Given the description of an element on the screen output the (x, y) to click on. 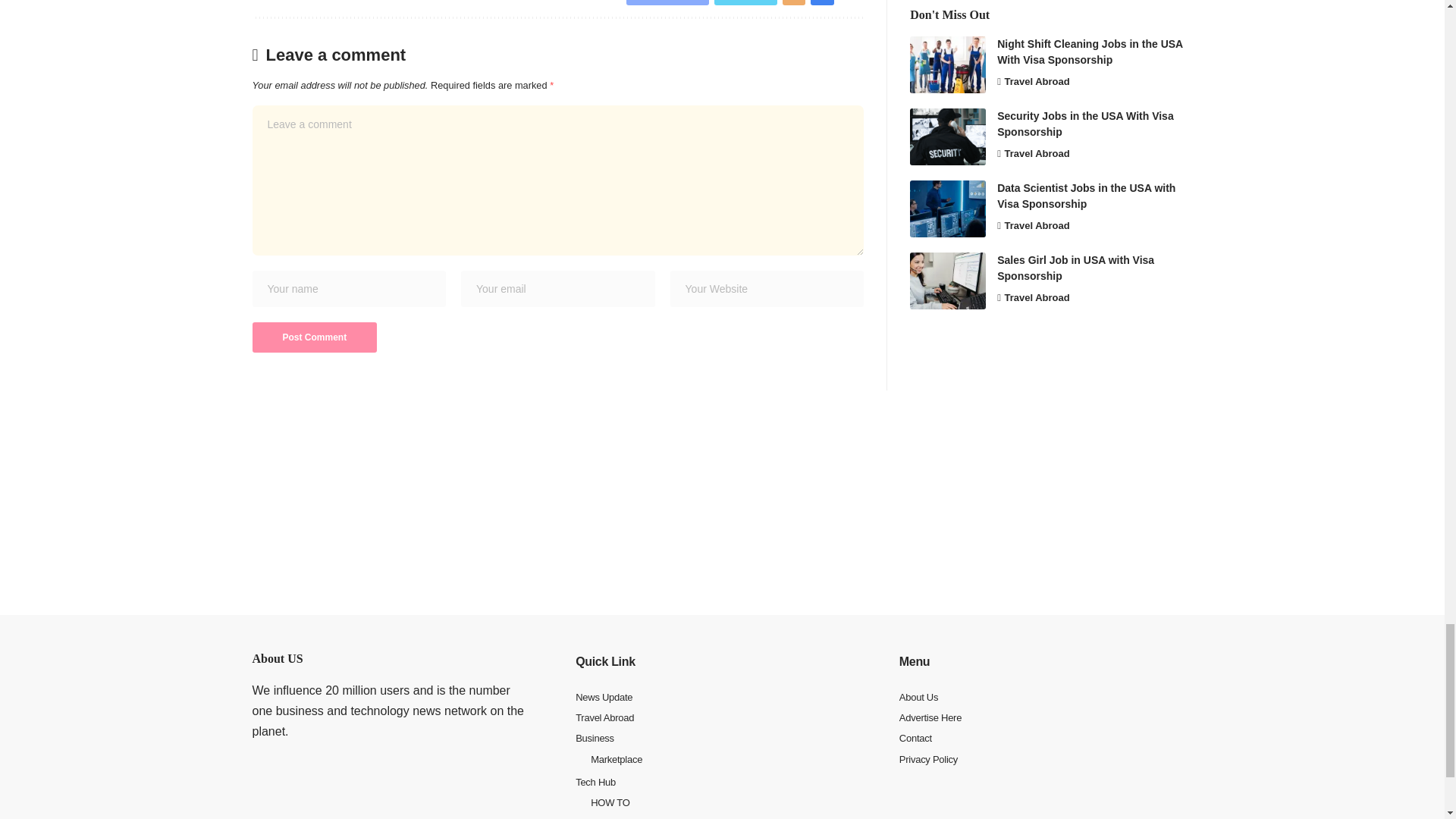
Post Comment (314, 337)
